Given the description of an element on the screen output the (x, y) to click on. 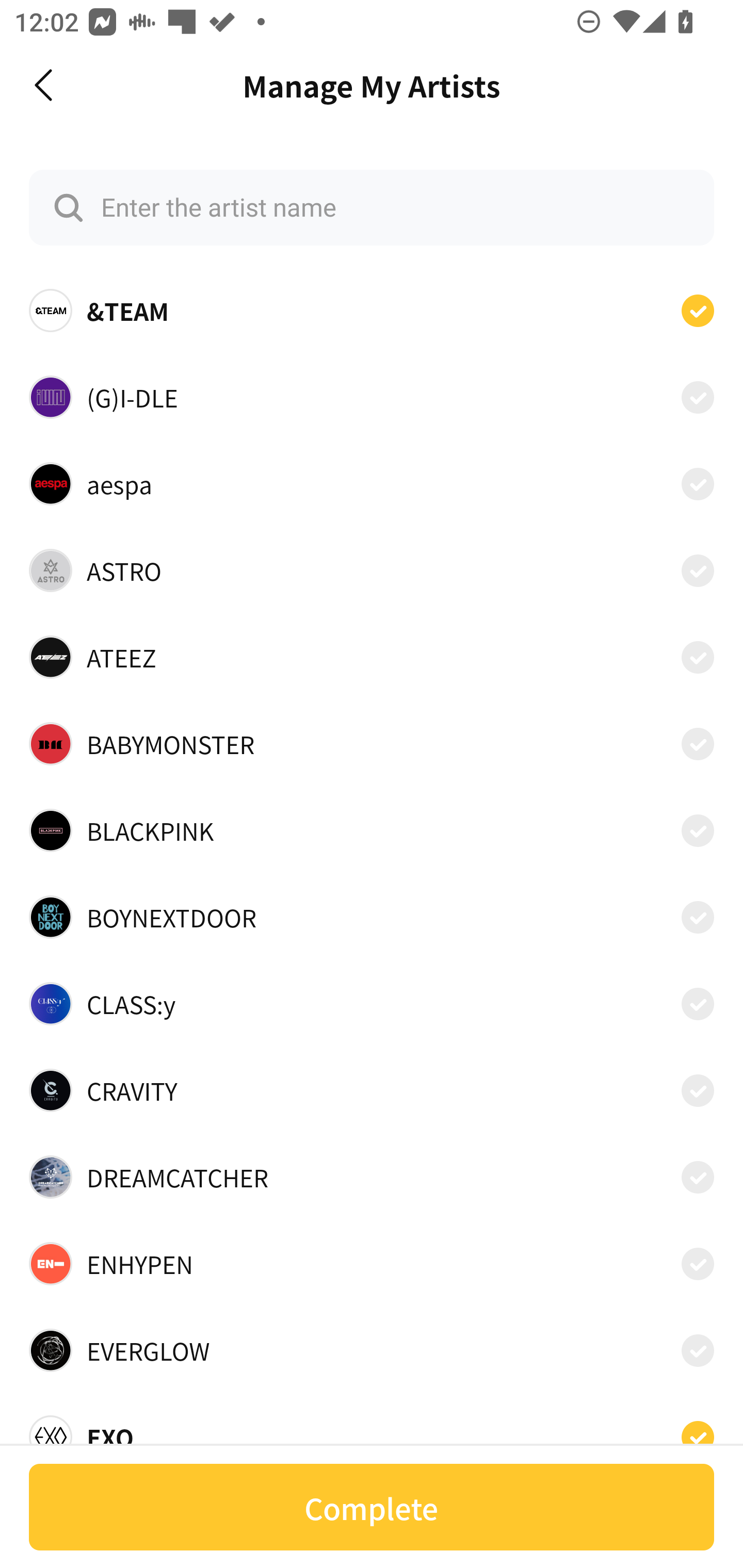
Enter the artist name (371, 207)
&TEAM (371, 310)
(G)I-DLE (371, 396)
aespa (371, 483)
ASTRO (371, 570)
ATEEZ (371, 656)
BABYMONSTER (371, 743)
BLACKPINK (371, 830)
BOYNEXTDOOR (371, 917)
CLASS:y (371, 1003)
CRAVITY (371, 1090)
DREAMCATCHER (371, 1176)
ENHYPEN (371, 1263)
EVERGLOW (371, 1350)
EXO (371, 1430)
Complete (371, 1507)
